Given the description of an element on the screen output the (x, y) to click on. 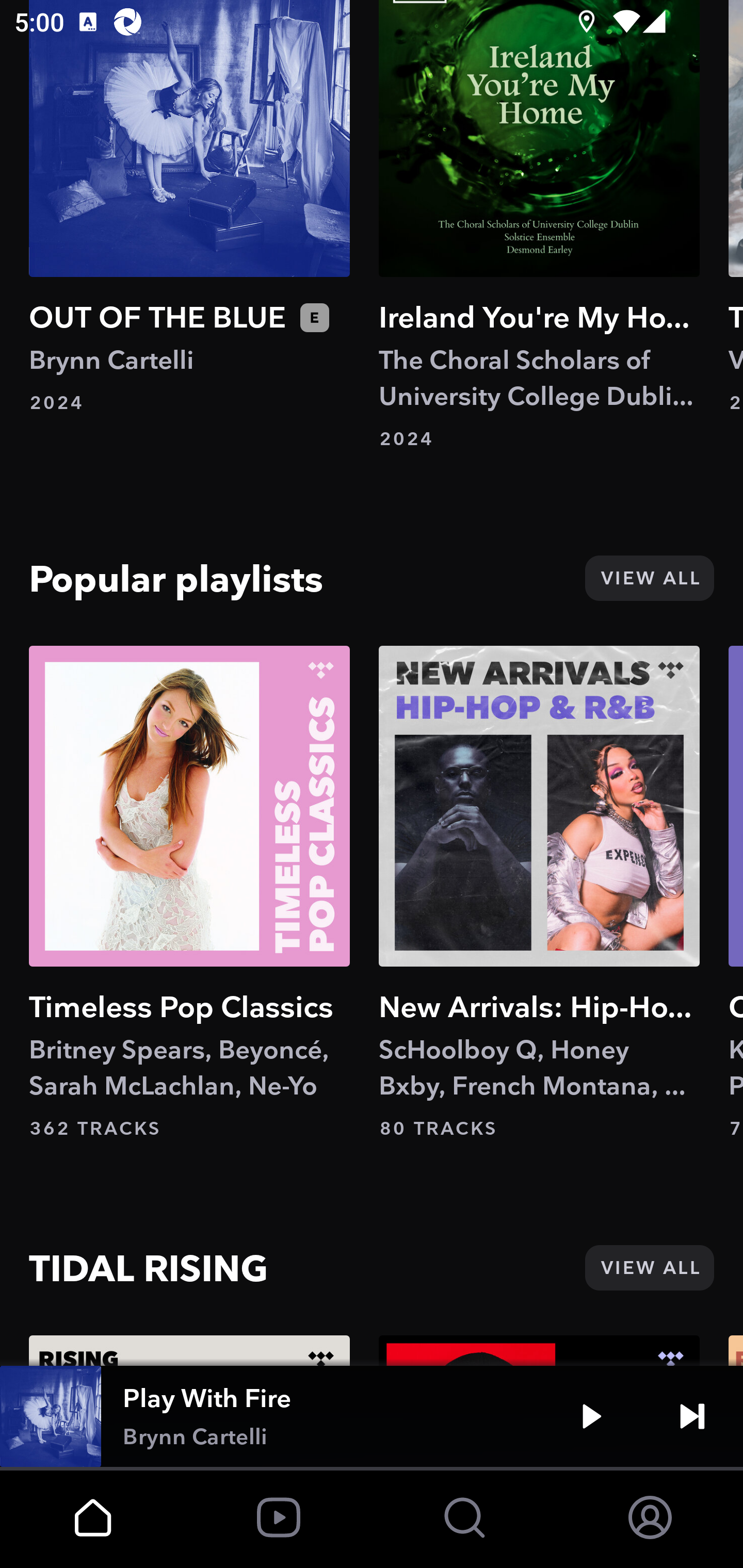
OUT OF THE BLUE Brynn Cartelli 2024 (188, 206)
VIEW ALL (649, 577)
VIEW ALL (649, 1267)
Play With Fire Brynn Cartelli Play (371, 1416)
Play (590, 1416)
